Given the description of an element on the screen output the (x, y) to click on. 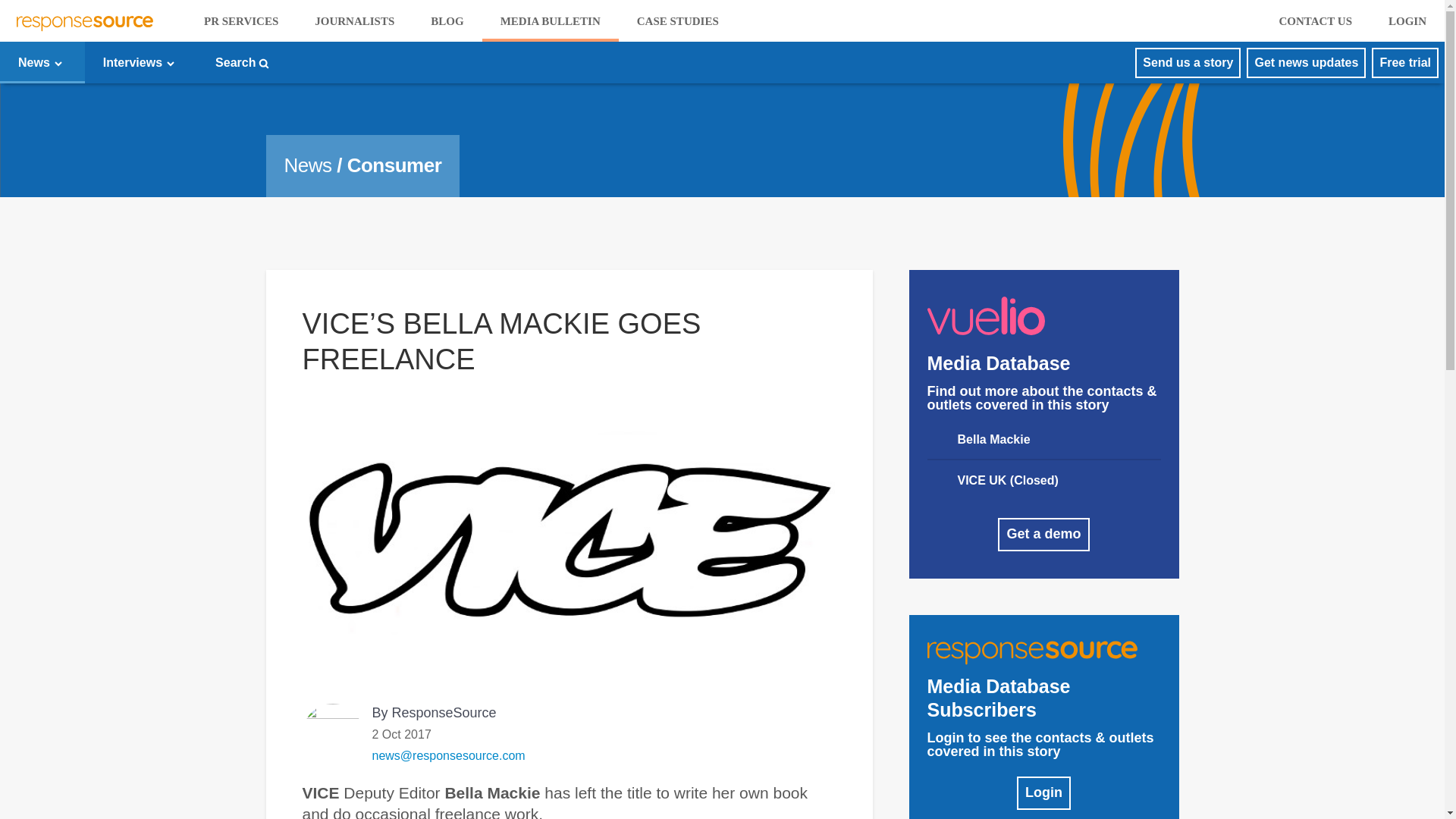
JOURNALISTS (354, 20)
News (42, 62)
MEDIA BULLETIN (549, 20)
CASE STUDIES (677, 20)
RESPONSESOURCE (85, 20)
BLOG (446, 20)
Search (242, 62)
Free trial (1404, 62)
Send us a story (1187, 62)
PR SERVICES (241, 20)
CONTACT US (1315, 20)
Get news updates (1305, 62)
Interviews (140, 62)
